Given the description of an element on the screen output the (x, y) to click on. 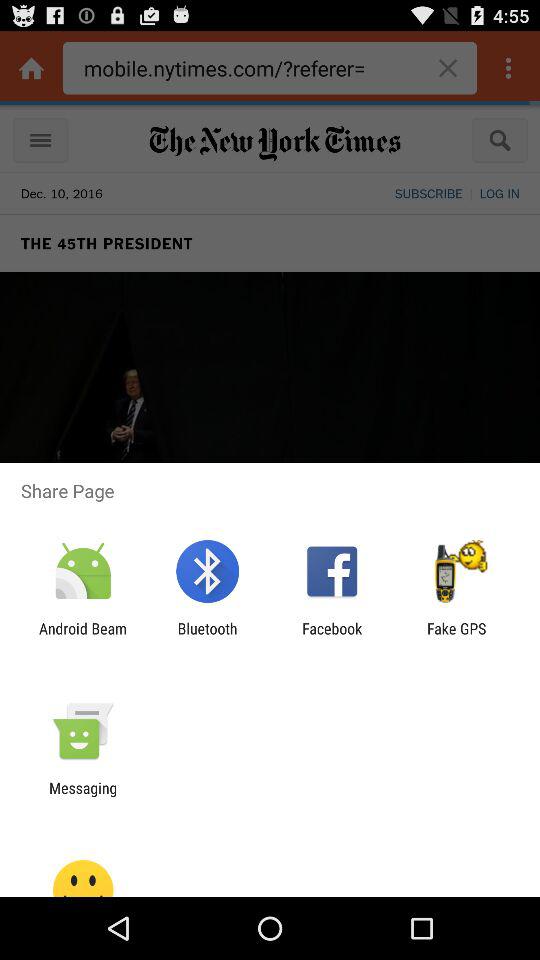
jump until the facebook icon (332, 637)
